Given the description of an element on the screen output the (x, y) to click on. 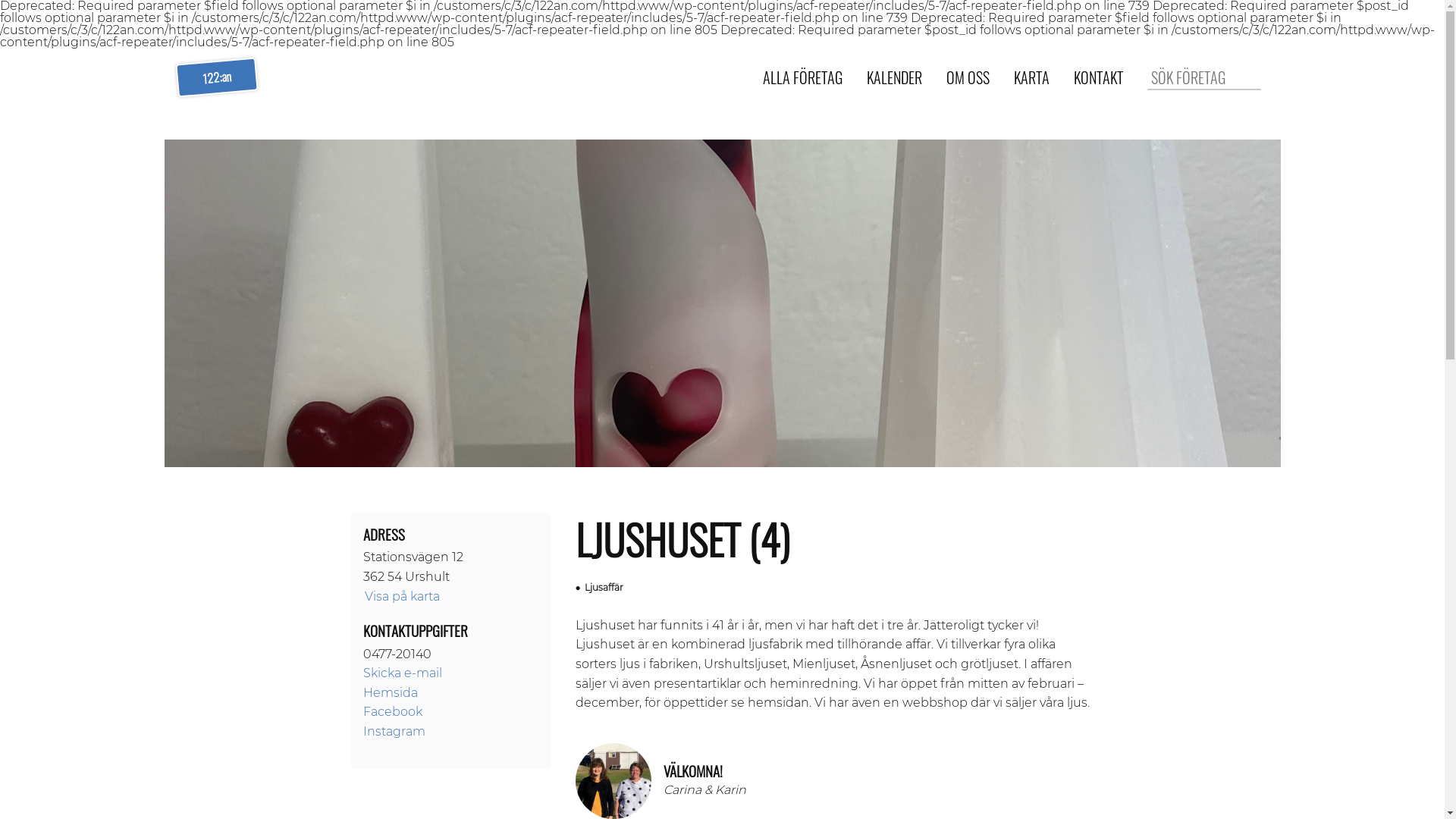
Skicka e-mail Element type: text (401, 672)
Facebook Element type: text (391, 711)
122:an Element type: text (215, 73)
Hemsida Element type: text (389, 692)
KALENDER Element type: text (893, 77)
KARTA Element type: text (1030, 77)
KONTAKT Element type: text (1098, 77)
Instagram Element type: text (393, 731)
OM OSS Element type: text (967, 77)
